Given the description of an element on the screen output the (x, y) to click on. 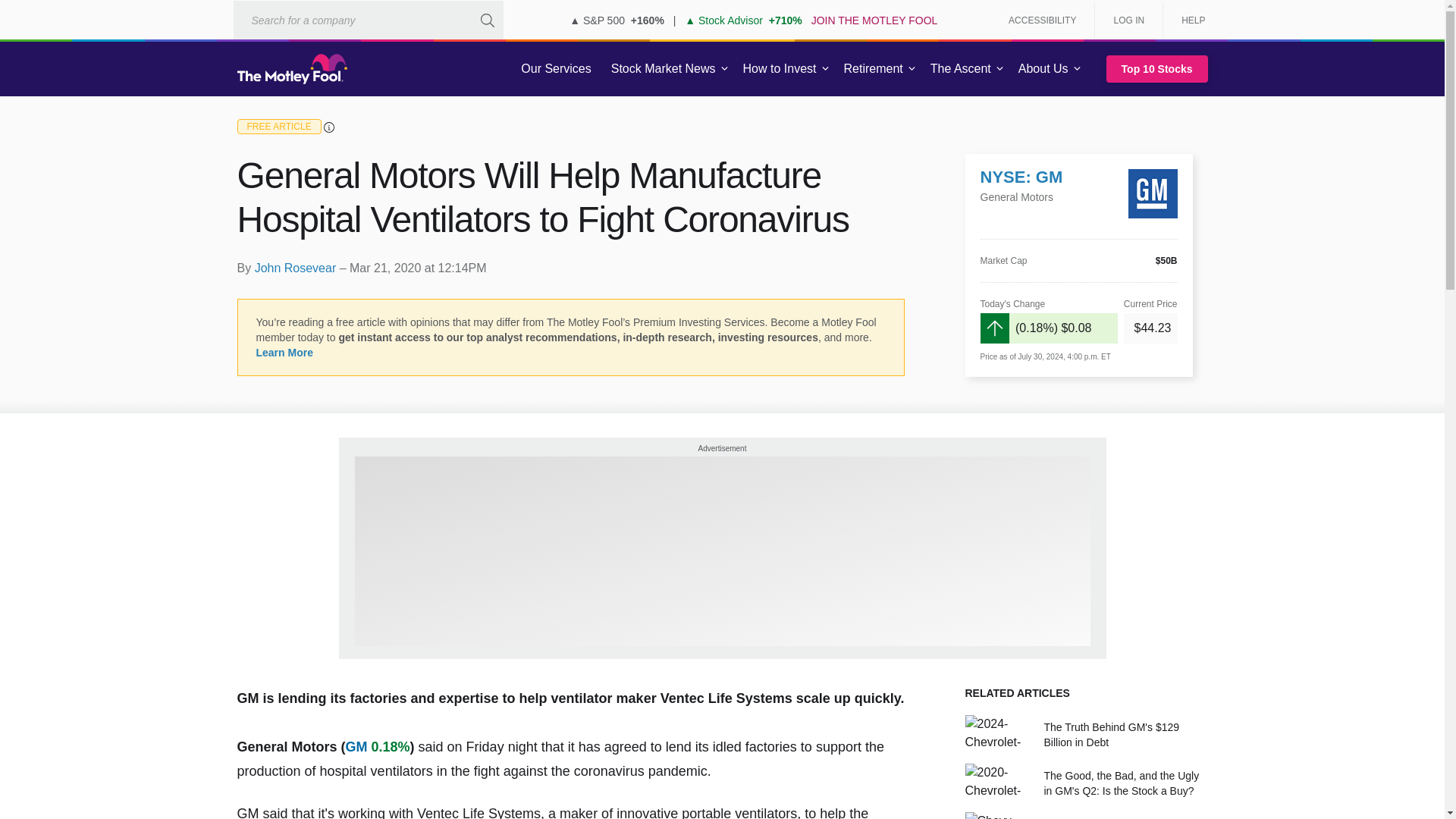
How to Invest (779, 68)
ACCESSIBILITY (1042, 19)
Stock Market News (662, 68)
LOG IN (1128, 19)
HELP (1187, 19)
Our Services (555, 68)
